Given the description of an element on the screen output the (x, y) to click on. 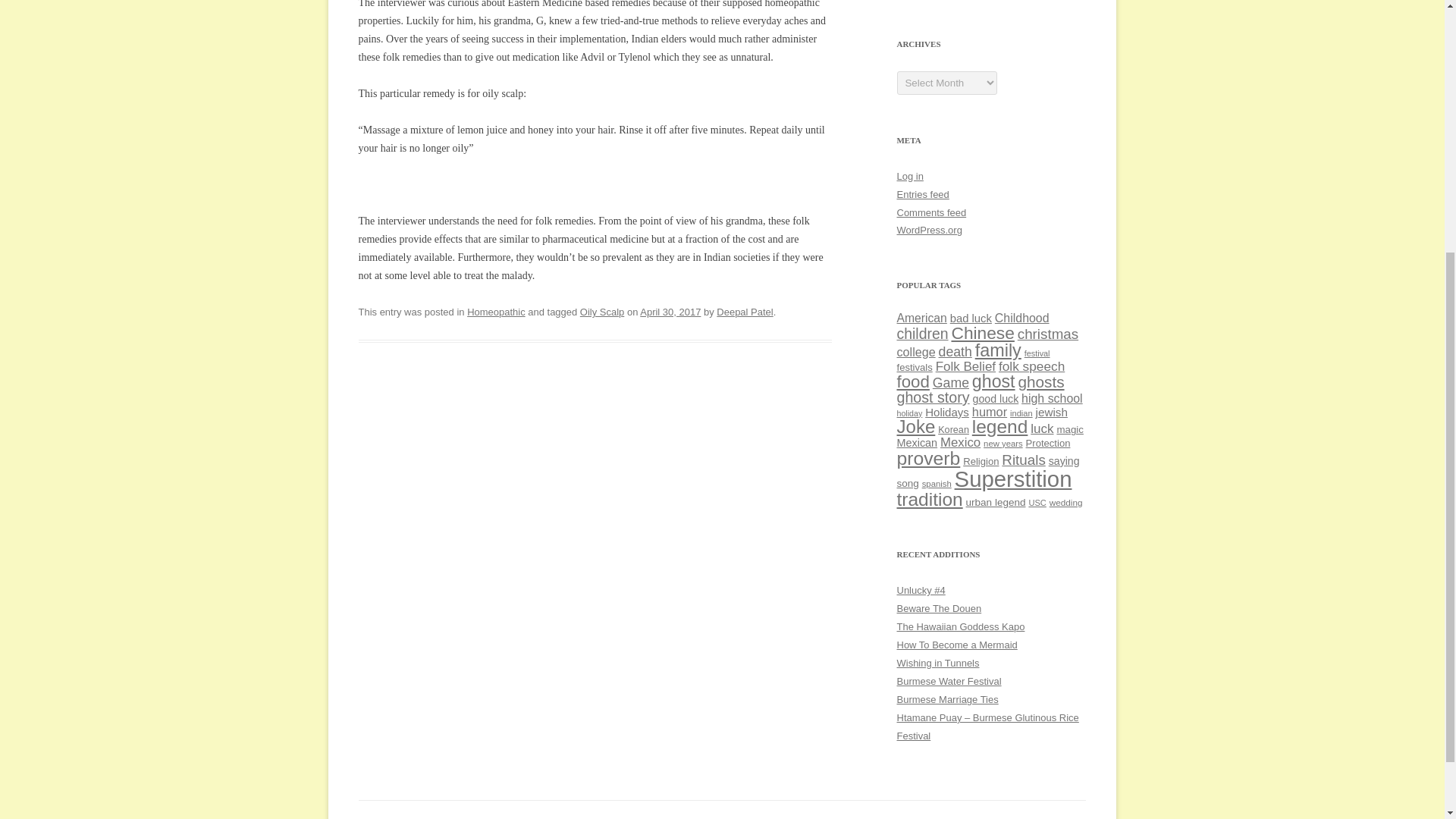
christmas (1047, 333)
college (915, 351)
Homeopathic (496, 311)
festivals (913, 367)
Log in (909, 175)
ghosts (1040, 381)
high school (1052, 398)
April 30, 2017 (670, 311)
family (998, 350)
death (955, 351)
folk speech (1031, 365)
Childhood (1021, 318)
indian (1021, 412)
holiday (908, 412)
Deepal Patel (744, 311)
